Given the description of an element on the screen output the (x, y) to click on. 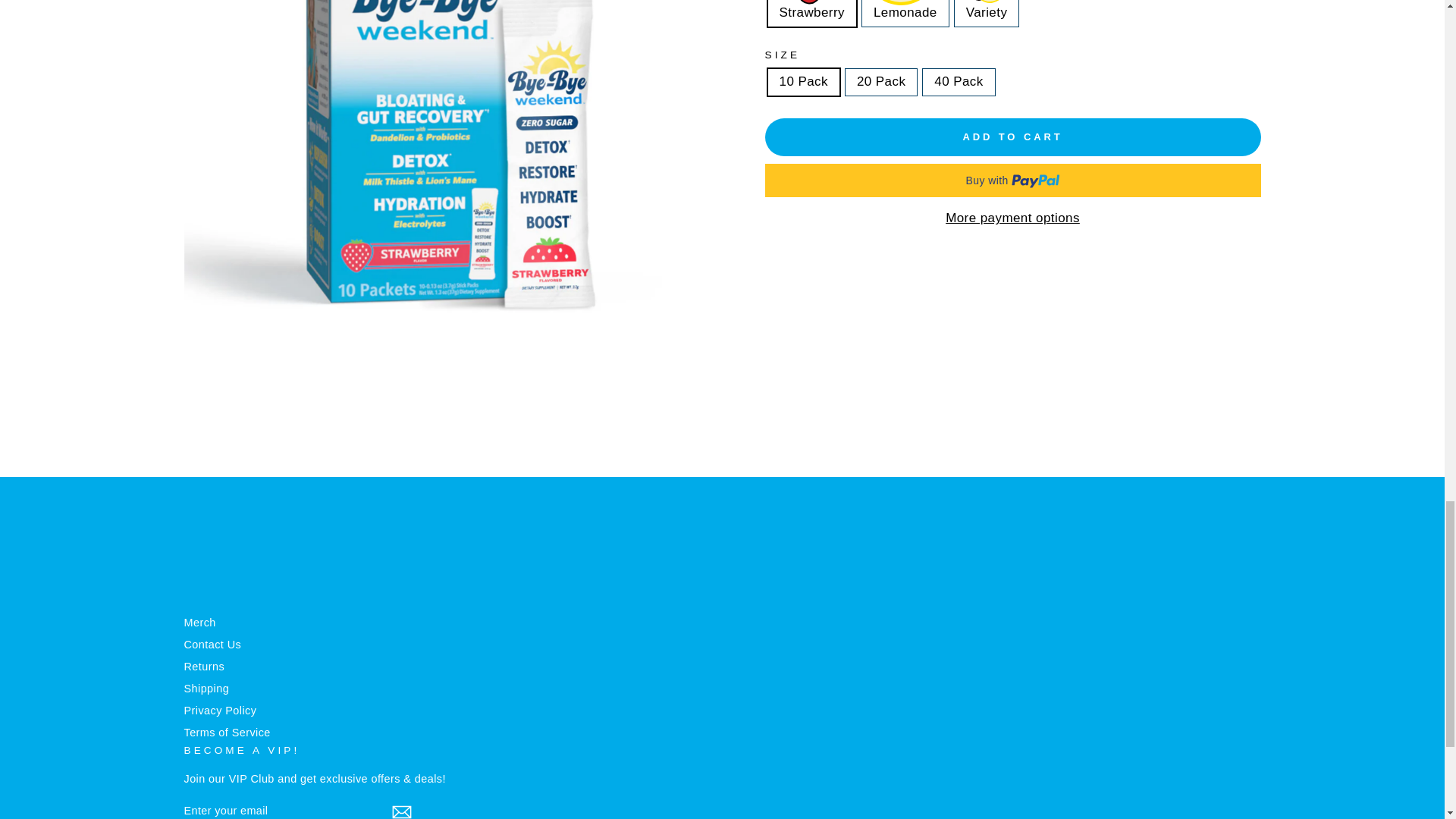
icon-email (400, 811)
